Given the description of an element on the screen output the (x, y) to click on. 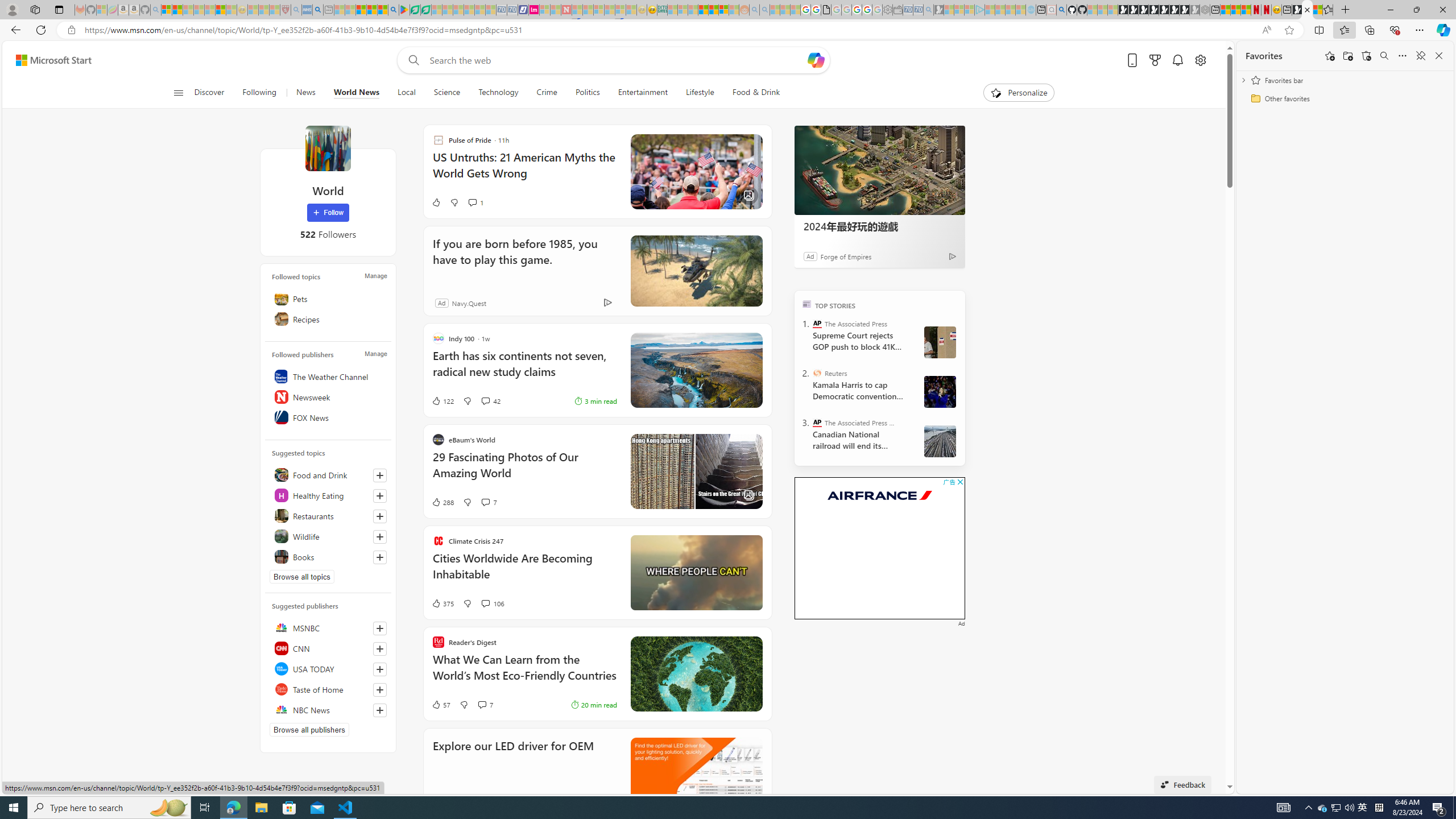
122 Like (442, 400)
Open navigation menu (177, 92)
Books (327, 556)
